Given the description of an element on the screen output the (x, y) to click on. 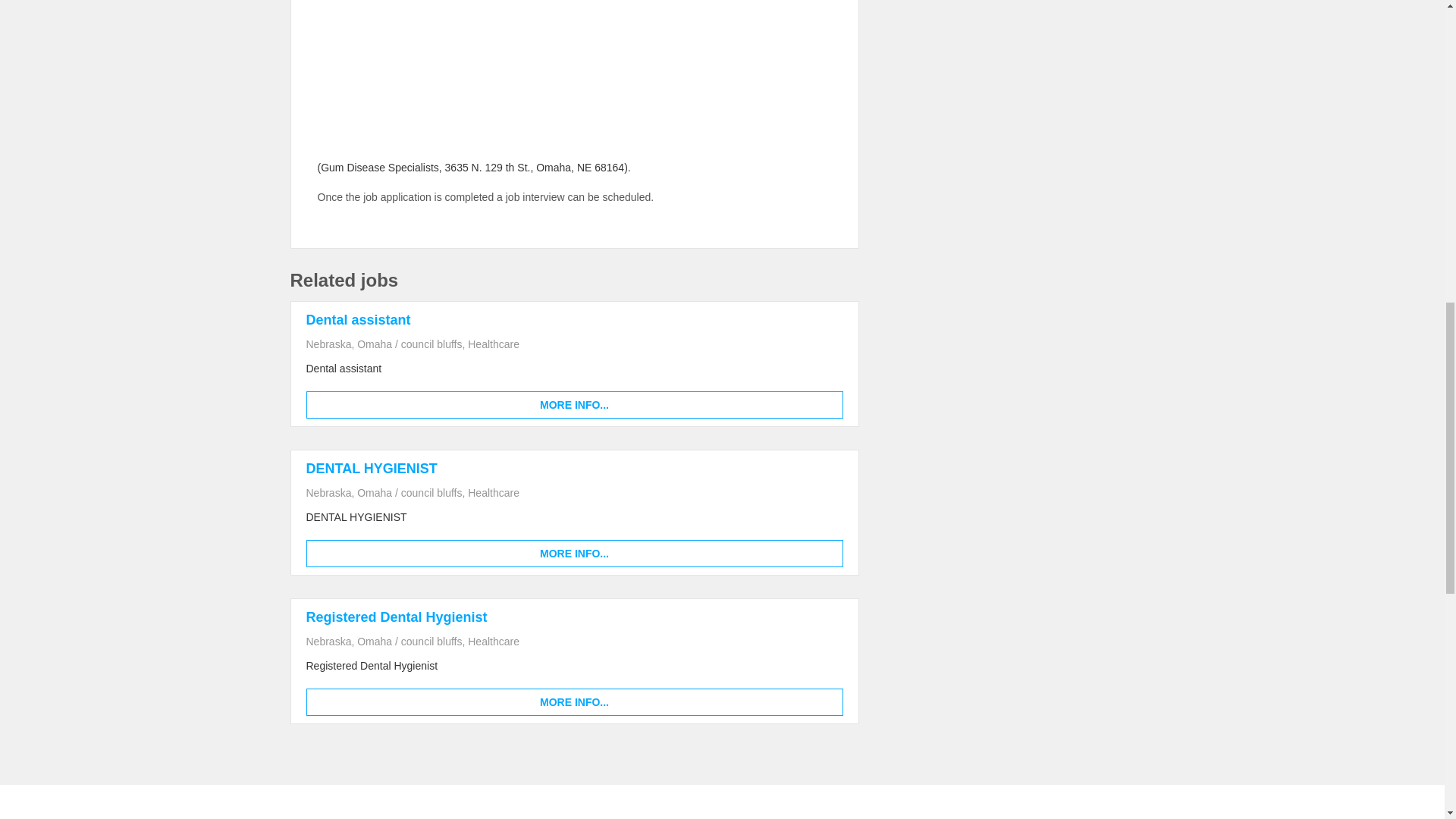
Healthcare (493, 344)
Healthcare (493, 492)
Nebraska (328, 492)
DENTAL HYGIENIST (371, 468)
MORE INFO... (574, 701)
Dental assistant (357, 319)
MORE INFO... (574, 404)
Nebraska (328, 344)
Advertisement (574, 95)
Dental assistant (574, 404)
